Given the description of an element on the screen output the (x, y) to click on. 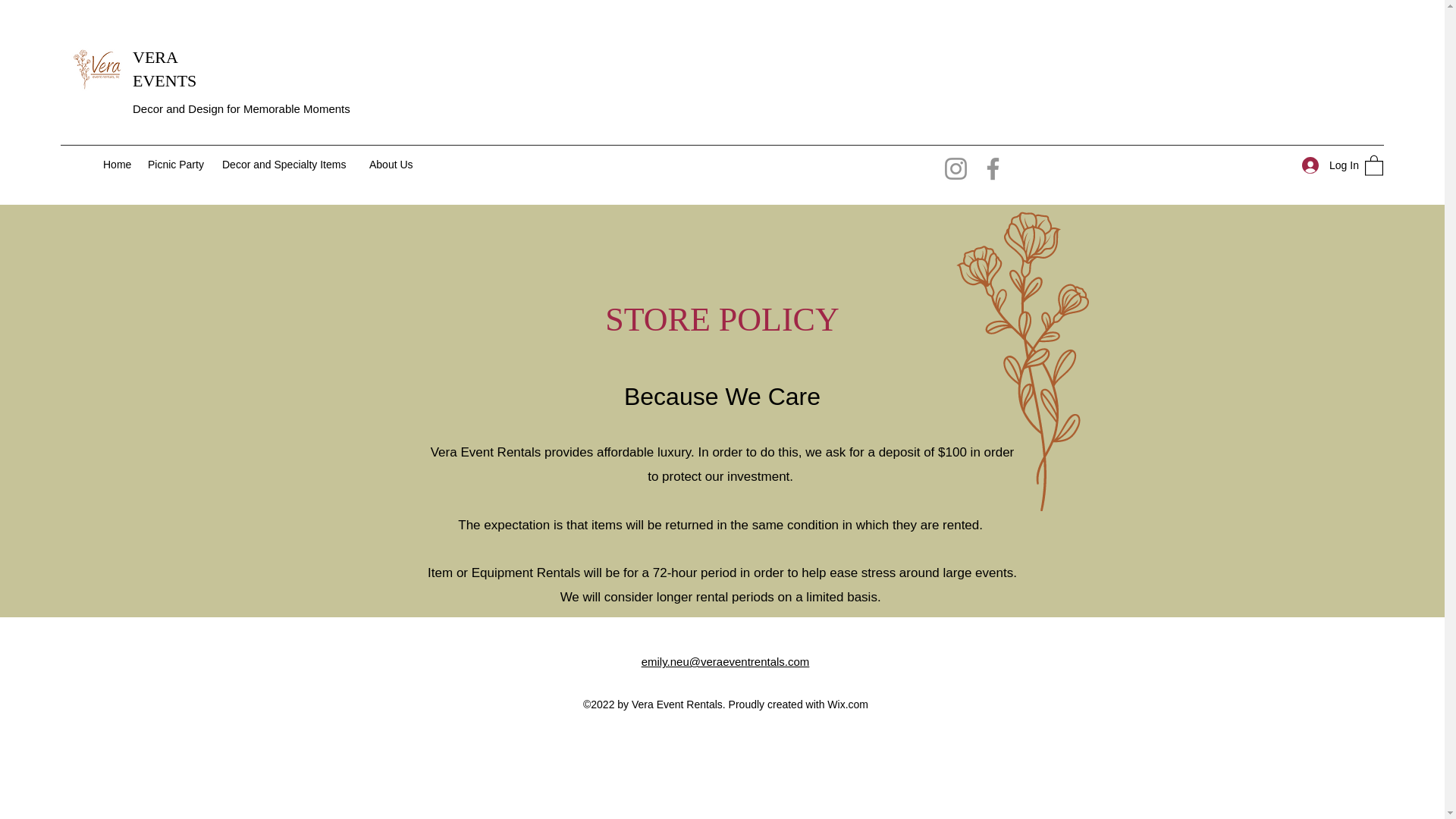
Picnic Party (176, 164)
Log In (1325, 165)
Home (117, 164)
About Us (392, 164)
Decor and Specialty Items (287, 164)
